Given the description of an element on the screen output the (x, y) to click on. 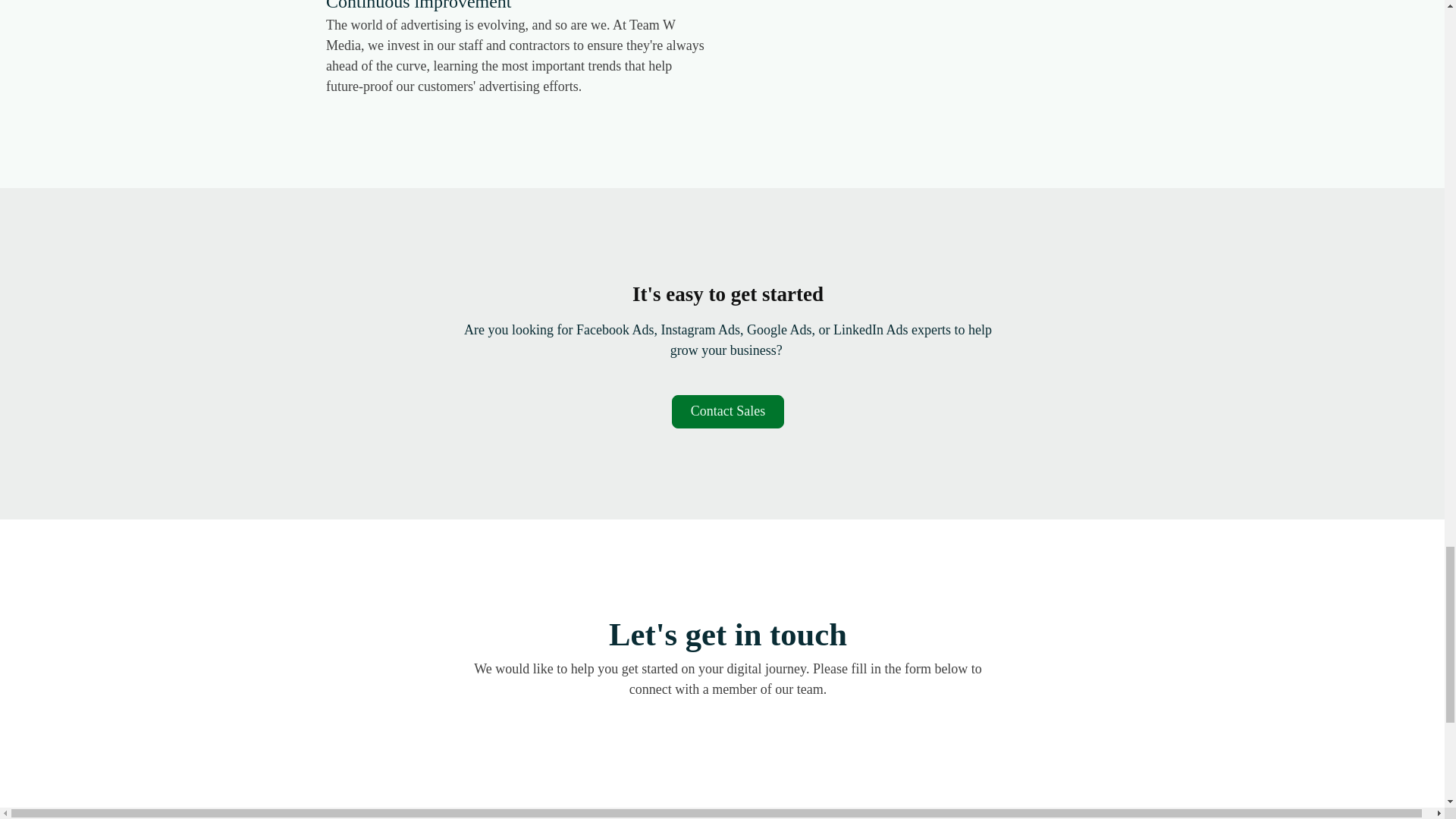
Contact Sales (727, 411)
